Given the description of an element on the screen output the (x, y) to click on. 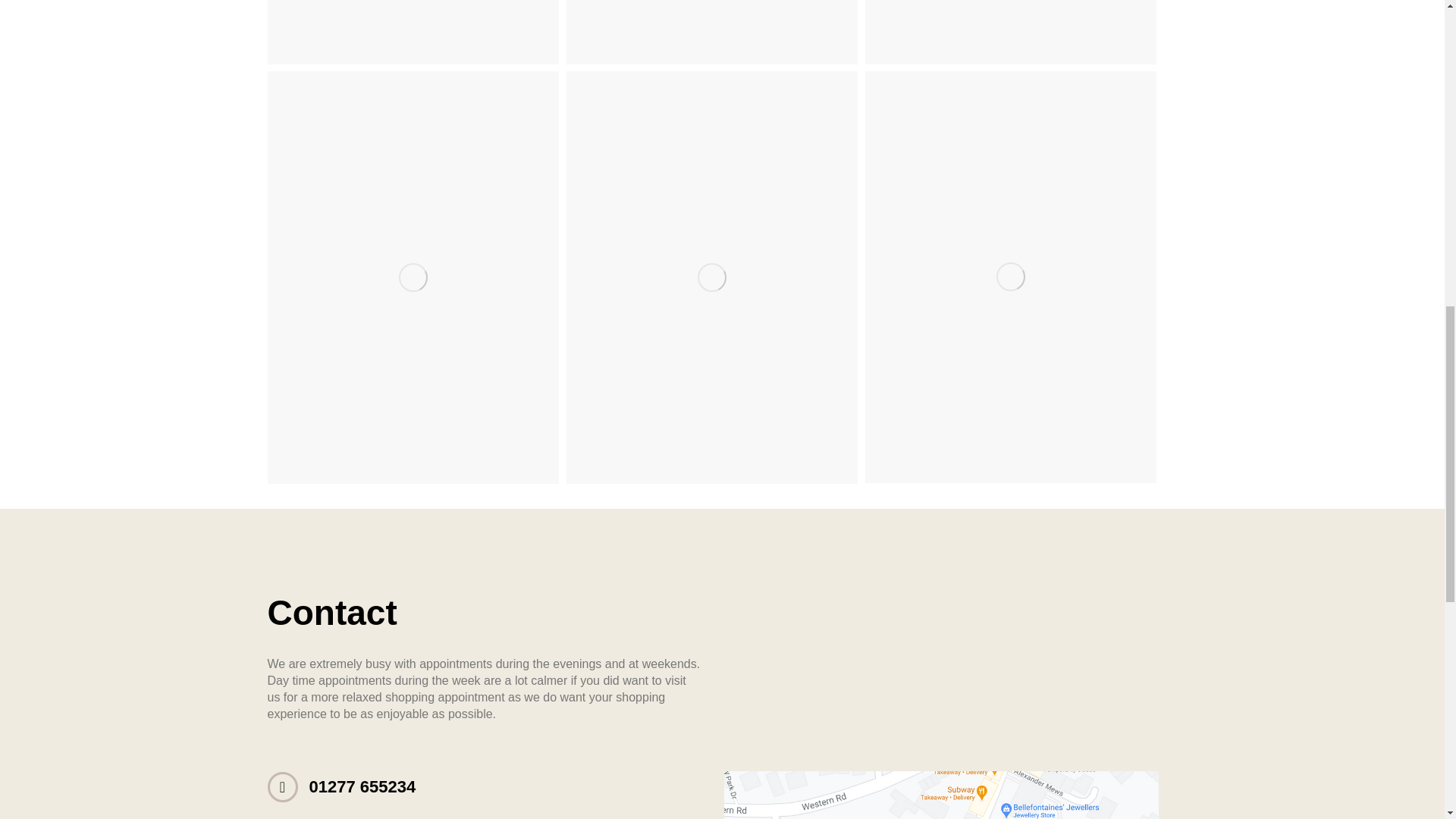
RiRis Bridal Phoenix Gowns 01 (411, 32)
RiRis Bridal Phoenix Gowns 03 (1010, 32)
RiRis Bridal Phoenix Gowns 02 (711, 32)
